Given the description of an element on the screen output the (x, y) to click on. 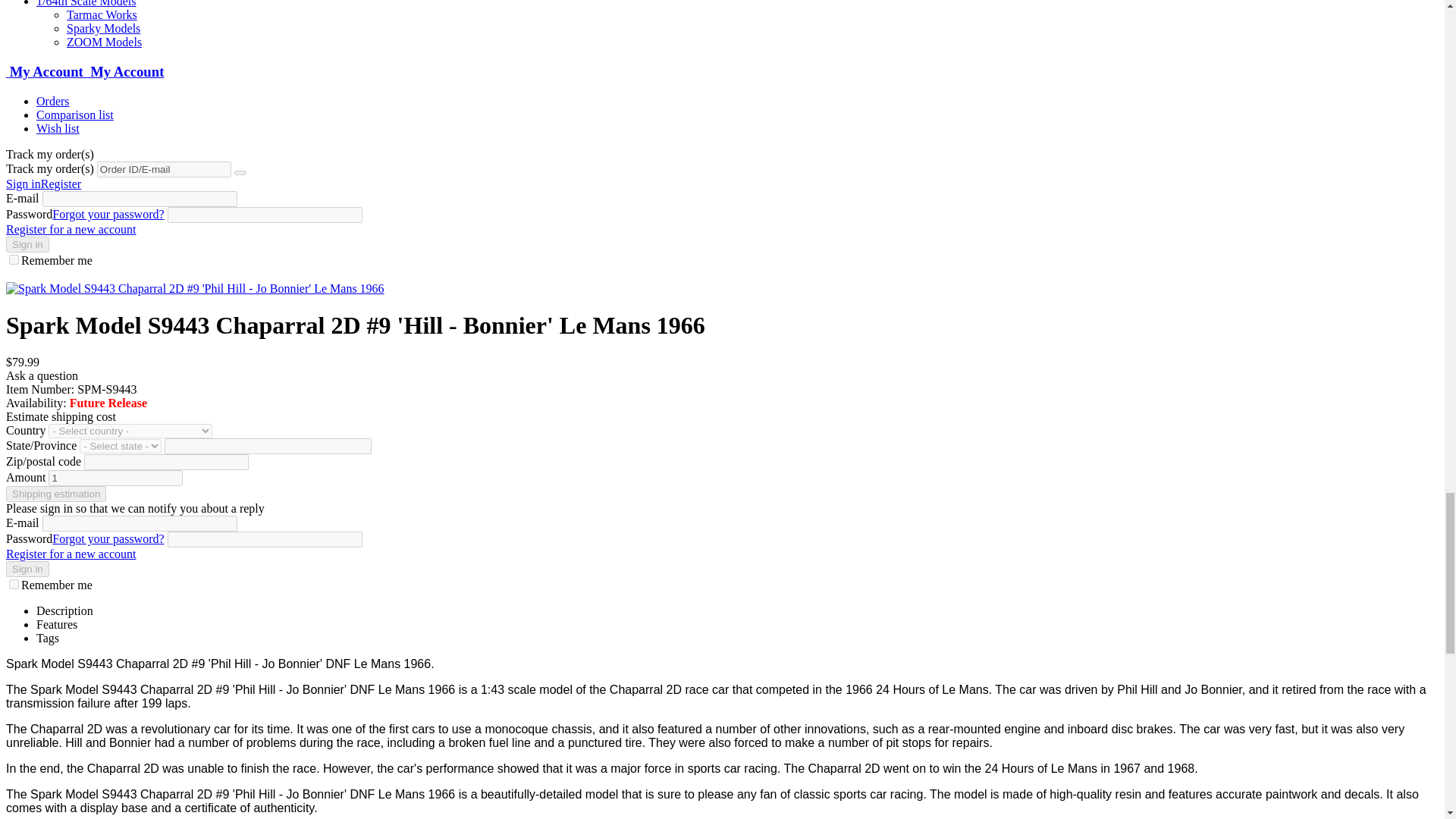
Ask a question (41, 375)
Y (13, 259)
Y (13, 583)
1 (115, 478)
Go (240, 172)
